Given the description of an element on the screen output the (x, y) to click on. 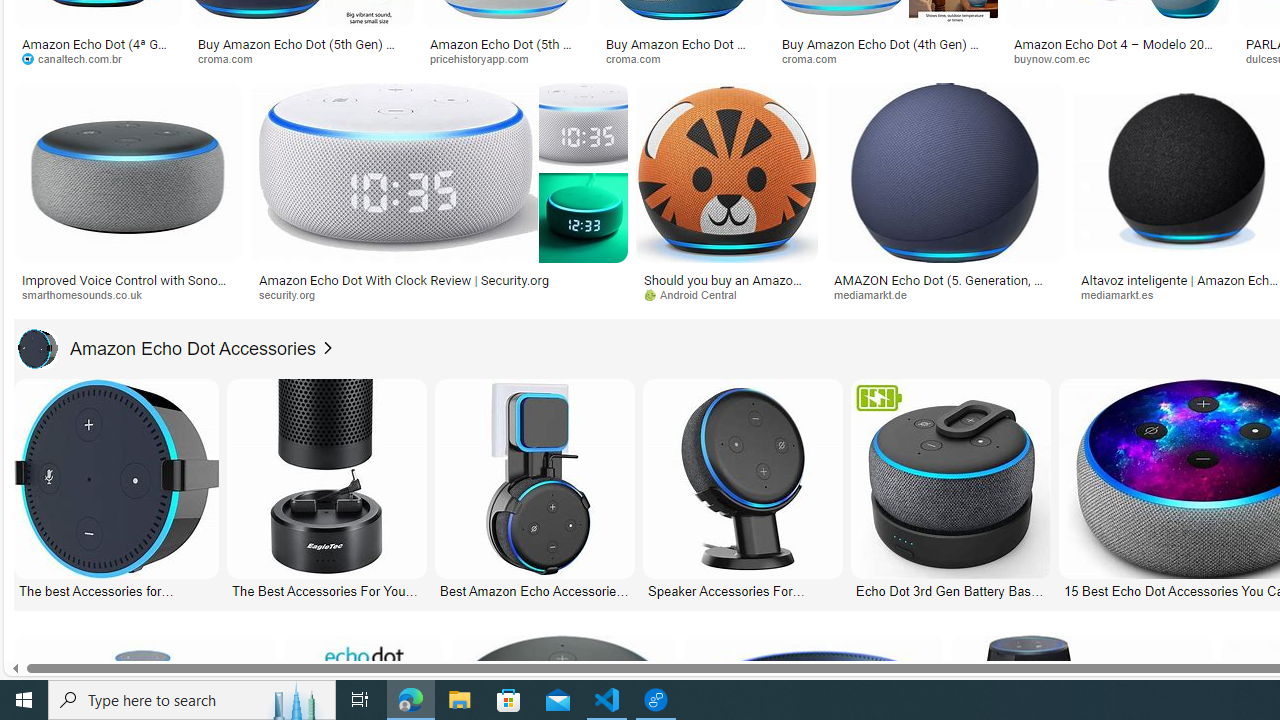
Android Central (697, 294)
pricehistoryapp.com (506, 58)
mediamarkt.de (877, 294)
smarthomesounds.co.uk (128, 295)
Amazon Echo Dot Accessories (167, 348)
